Given the description of an element on the screen output the (x, y) to click on. 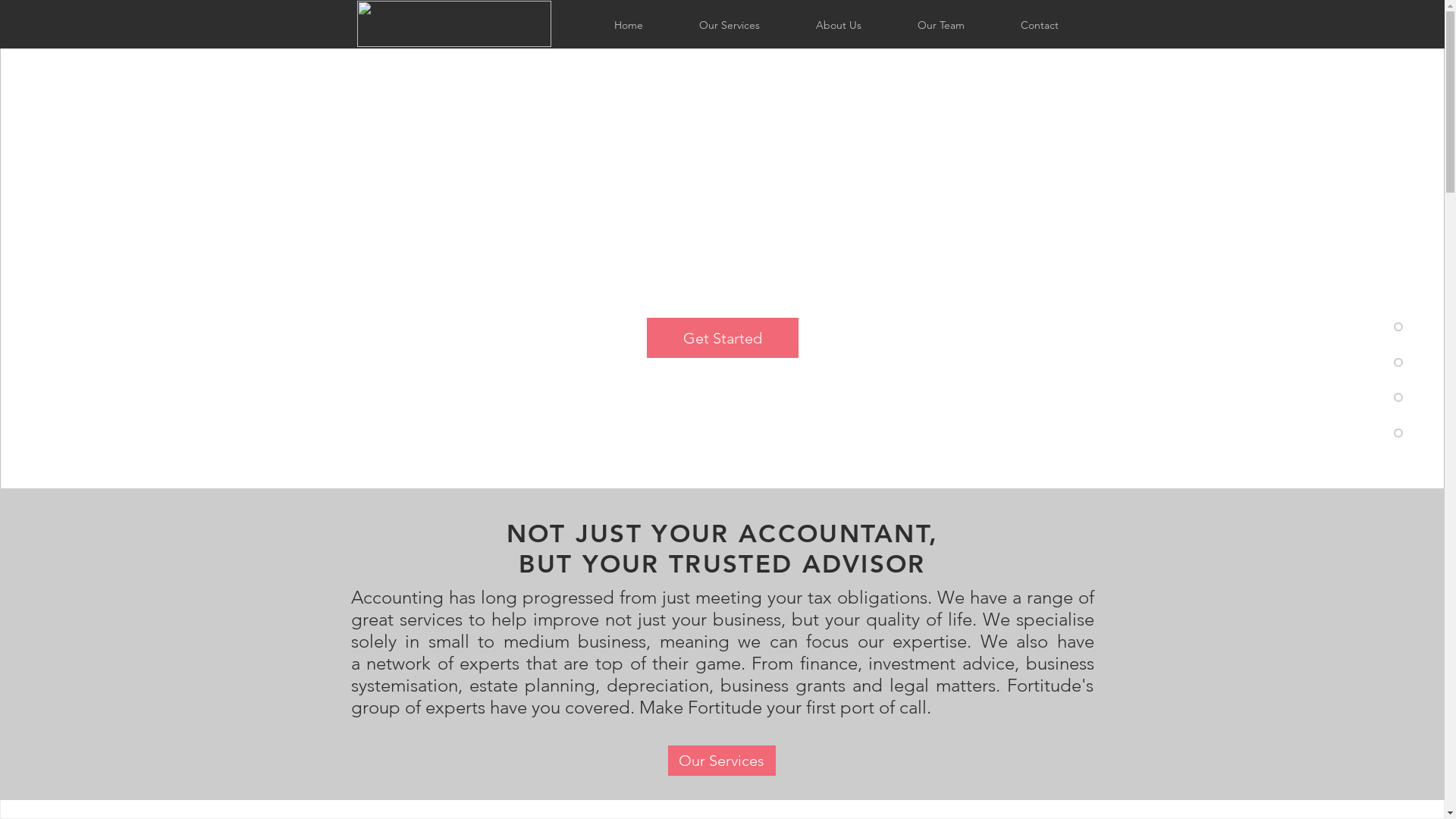
Our Services Element type: text (721, 760)
Our Services Element type: text (728, 25)
About Us Element type: text (837, 25)
Home Element type: text (627, 25)
Get Started Element type: text (721, 337)
Contact Element type: text (1038, 25)
Our Team Element type: text (939, 25)
